Given the description of an element on the screen output the (x, y) to click on. 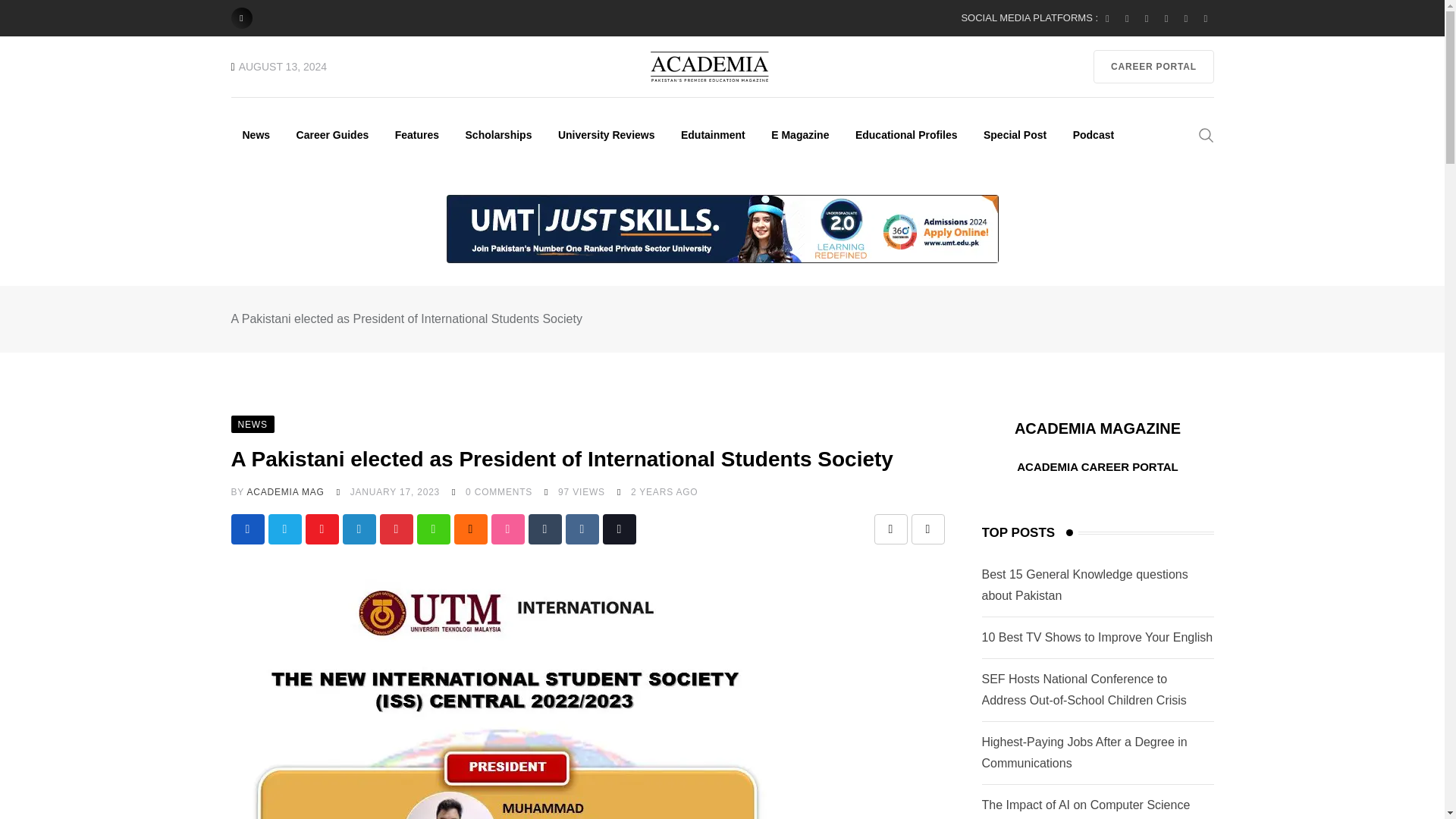
Features (416, 134)
Career Guides (332, 134)
Search (1205, 134)
CAREER PORTAL (1153, 66)
E Magazine (800, 134)
Edutainment (713, 134)
Special Post (1015, 134)
Educational Profiles (906, 134)
Scholarships (498, 134)
